Given the description of an element on the screen output the (x, y) to click on. 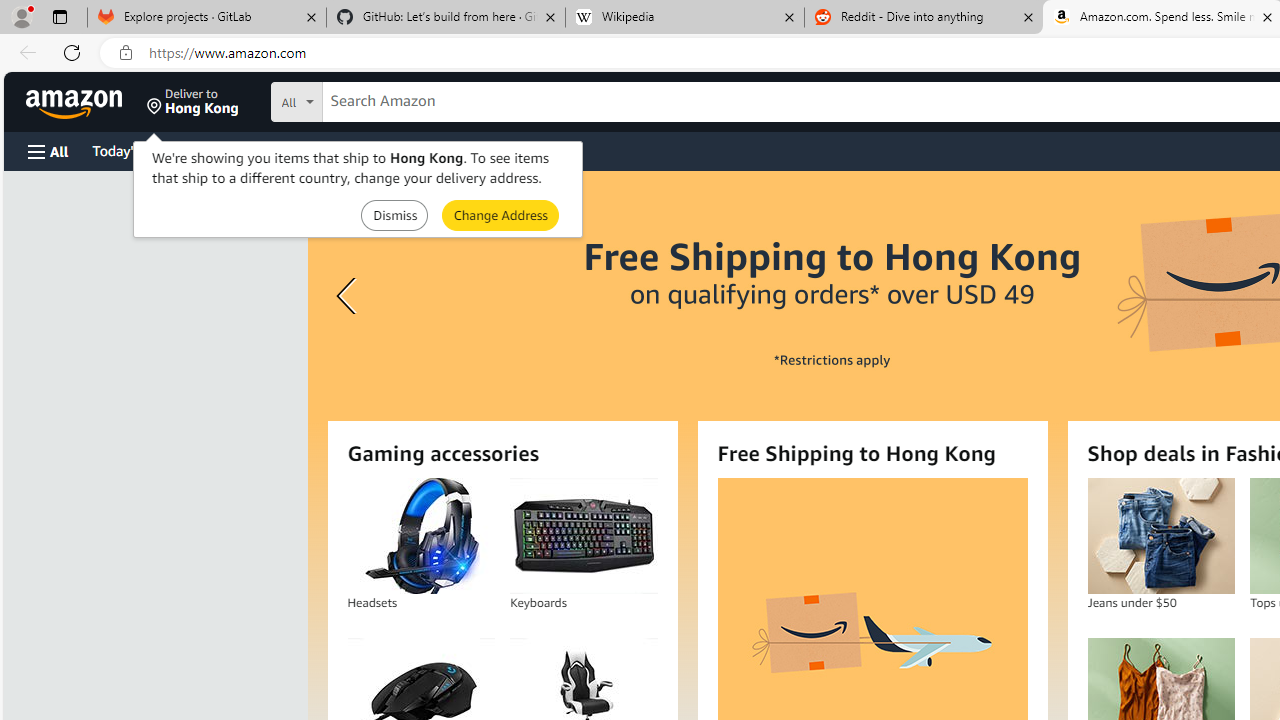
Keyboards (584, 536)
Amazon (76, 101)
Skip to main content (86, 100)
Open Menu (48, 151)
Customer Service (256, 150)
Search in (371, 102)
Jeans under $50 (1160, 536)
Wikipedia (684, 17)
Headsets (420, 536)
Headsets (420, 536)
Reddit - Dive into anything (924, 17)
